Given the description of an element on the screen output the (x, y) to click on. 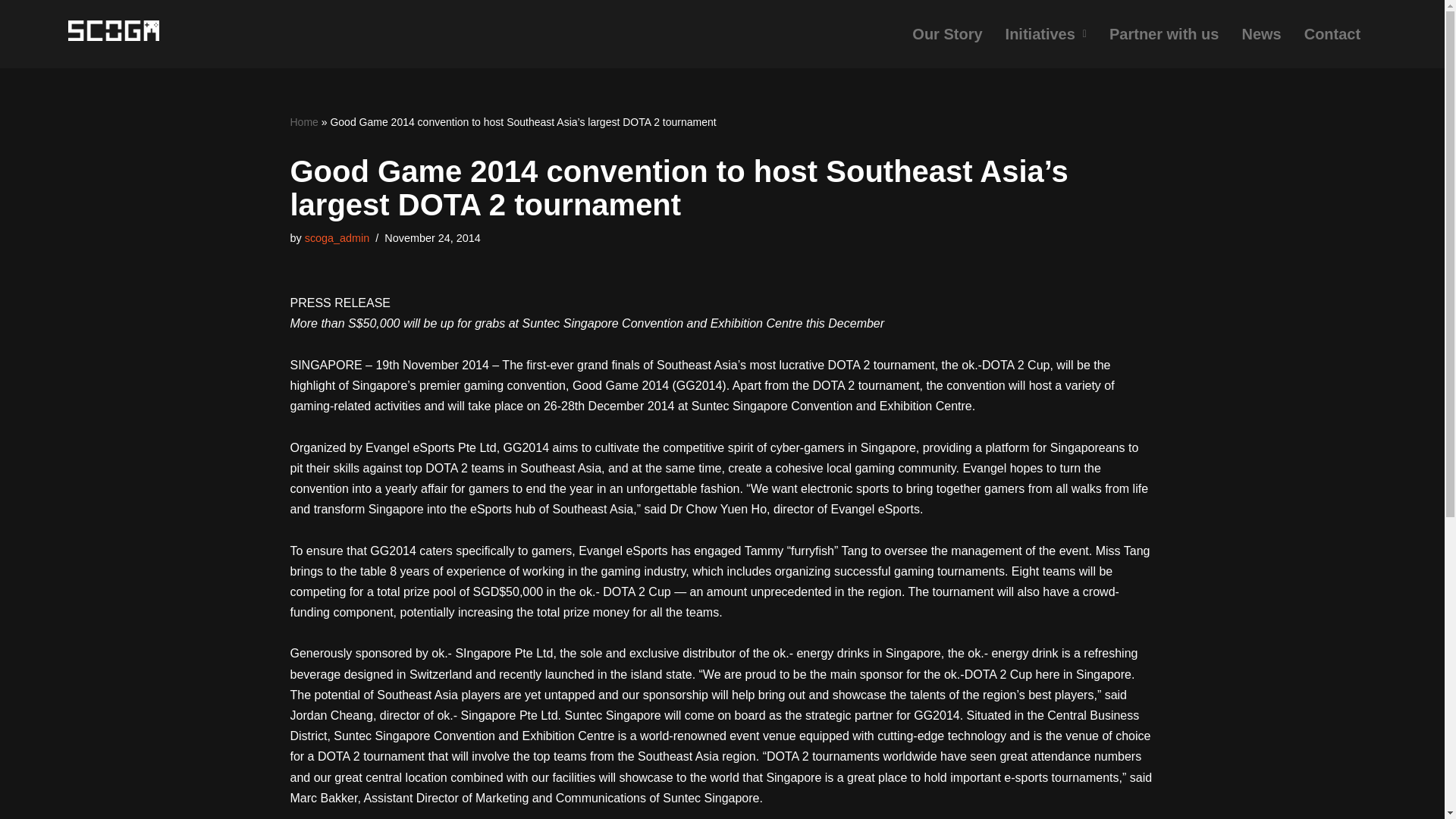
Our Story (946, 34)
News (1261, 34)
Skip to content (11, 31)
Contact (1331, 34)
Partner with us (1163, 34)
Home (303, 121)
Initiatives (1045, 34)
